Given the description of an element on the screen output the (x, y) to click on. 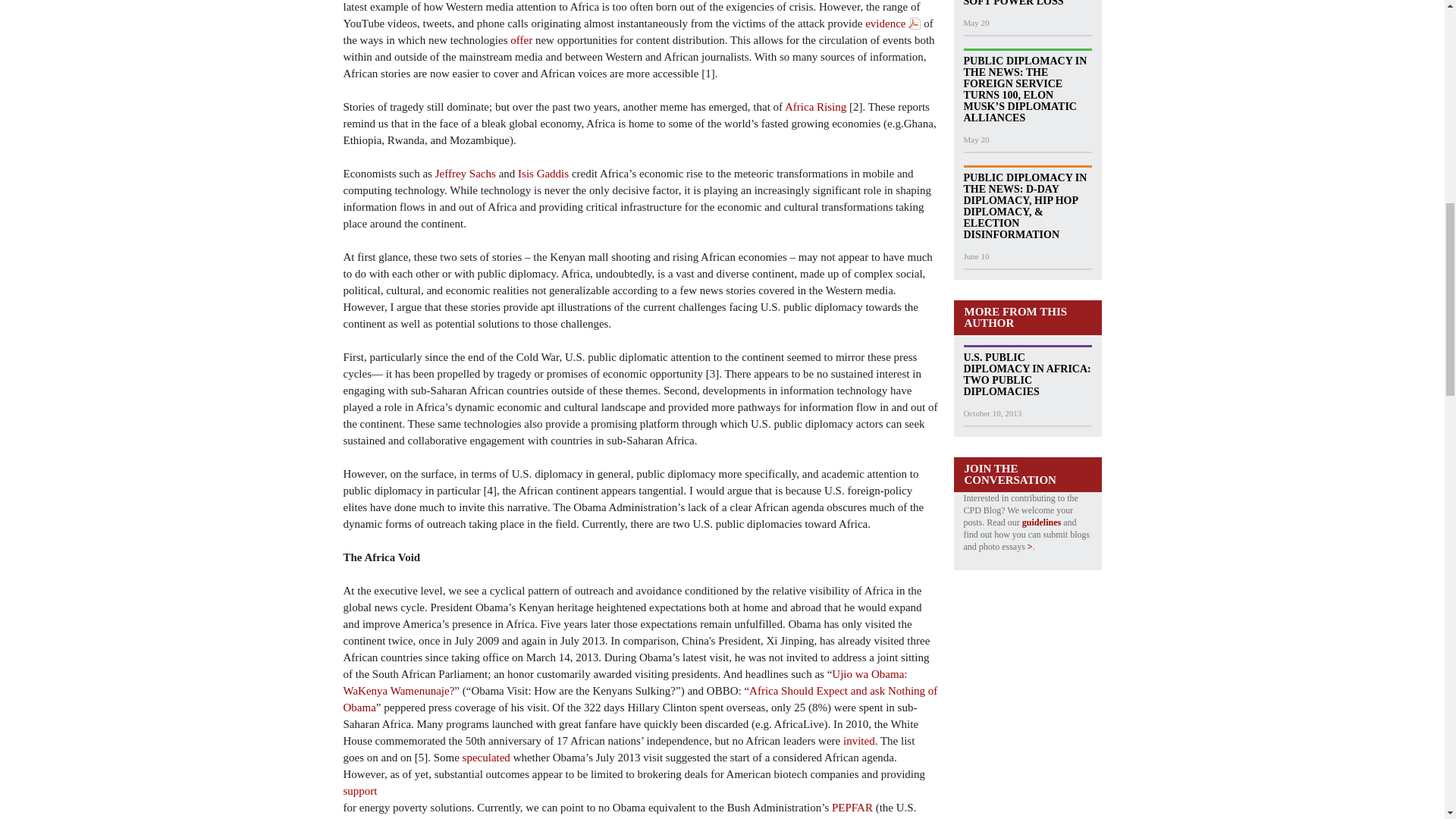
Africa Rising (814, 105)
Ujio wa Obama: WaKenya Wamenunaje? (624, 681)
Isis Gaddis (543, 173)
evidence (892, 23)
offer (521, 39)
Africa Should Expect and ask Nothing of Obama (639, 697)
Isis Gaddis (543, 173)
Jeffrey Sachs (465, 173)
offer (521, 39)
Jeffrey Sachs (465, 173)
evidence (892, 23)
Africa Rising (814, 105)
